Given the description of an element on the screen output the (x, y) to click on. 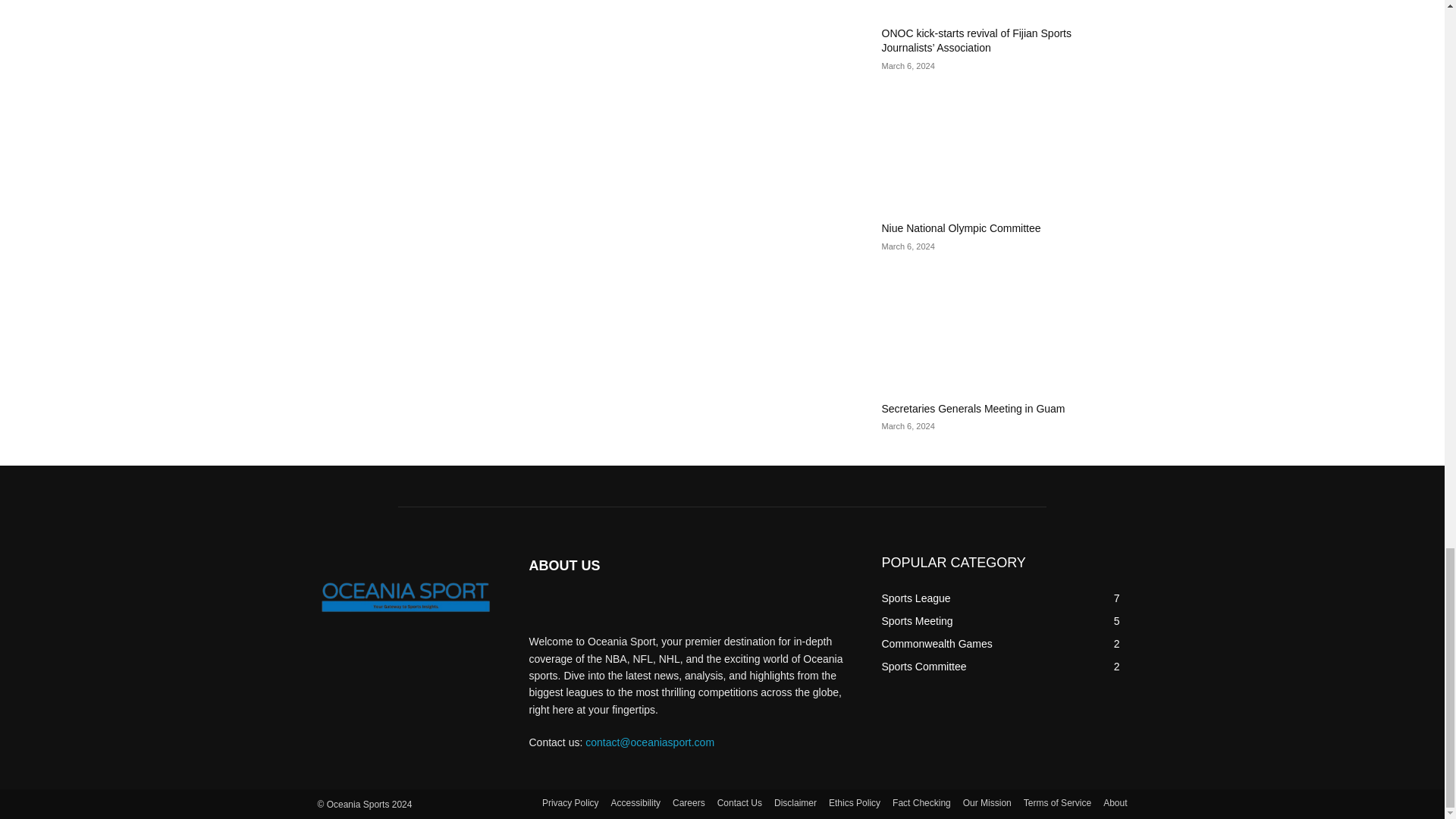
Niue National Olympic Committee (960, 227)
Niue National Olympic Committee (1003, 149)
